Given the description of an element on the screen output the (x, y) to click on. 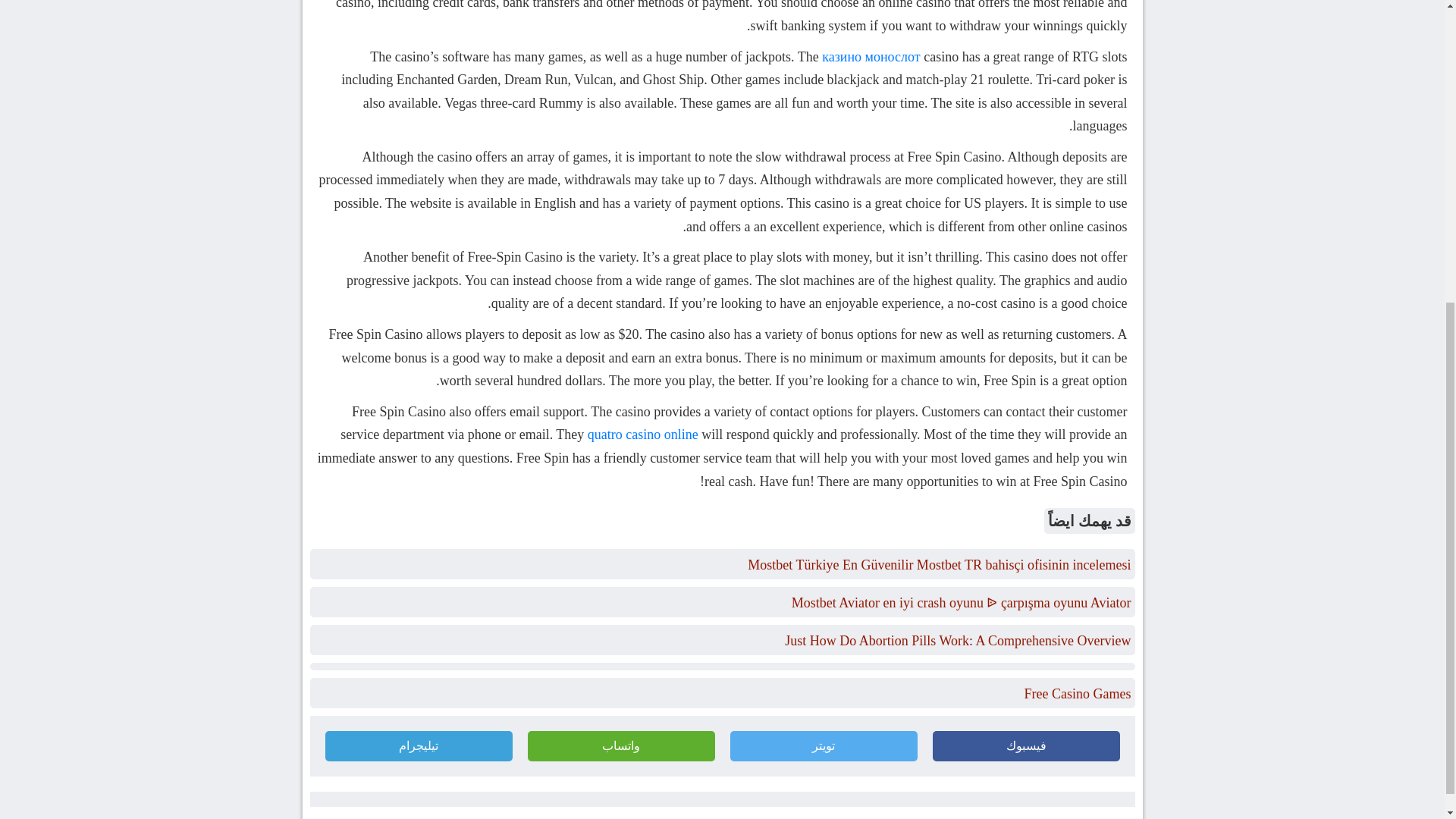
Free Casino Games (1078, 693)
quatro casino online (643, 434)
Just How Do Abortion Pills Work: A Comprehensive Overview (957, 640)
